Given the description of an element on the screen output the (x, y) to click on. 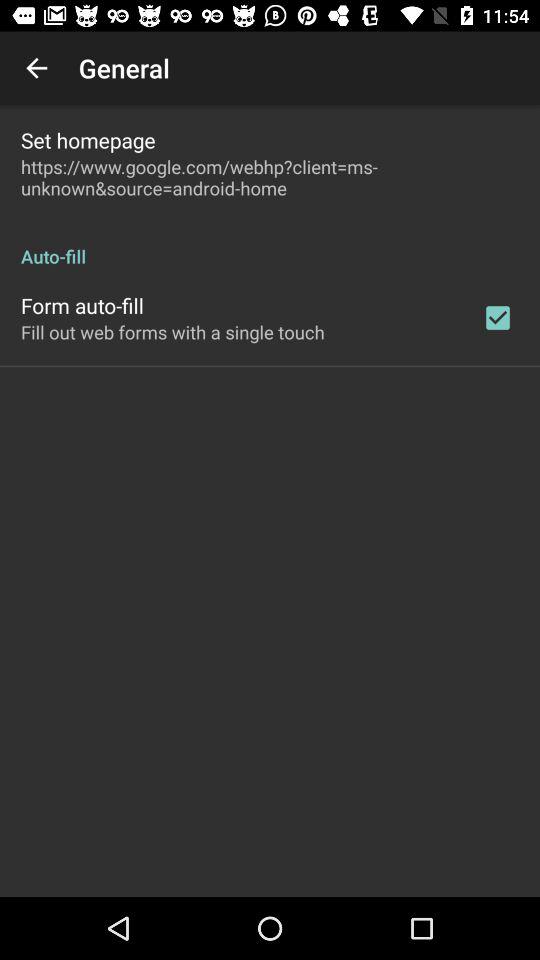
turn off the item above https www google app (88, 139)
